Given the description of an element on the screen output the (x, y) to click on. 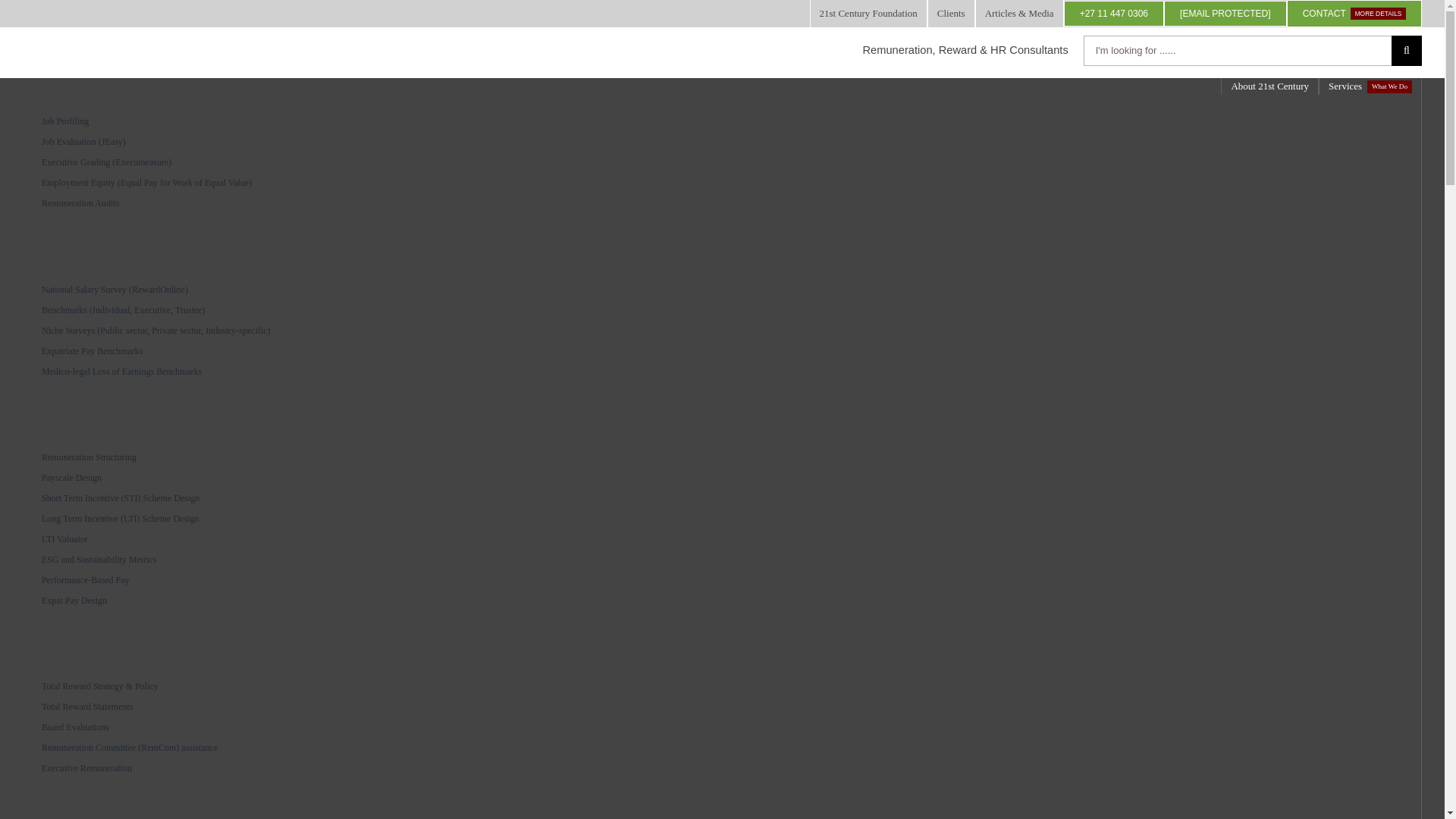
LTI Valuator (724, 539)
Internal Equity (71, 234)
Total Reward Statements (724, 706)
Performance-Based Pay (724, 580)
Remuneration Structuring (724, 457)
21st Century Foundation (868, 13)
Job Profiling (724, 121)
Internal Equity: (29, 102)
About 21st Century (1270, 86)
Remuneration Audits (1370, 86)
Remuneration Design (724, 203)
Clients (86, 631)
Remuneration Design: (951, 13)
Expatriate Pay Benchmarks (42, 437)
